Given the description of an element on the screen output the (x, y) to click on. 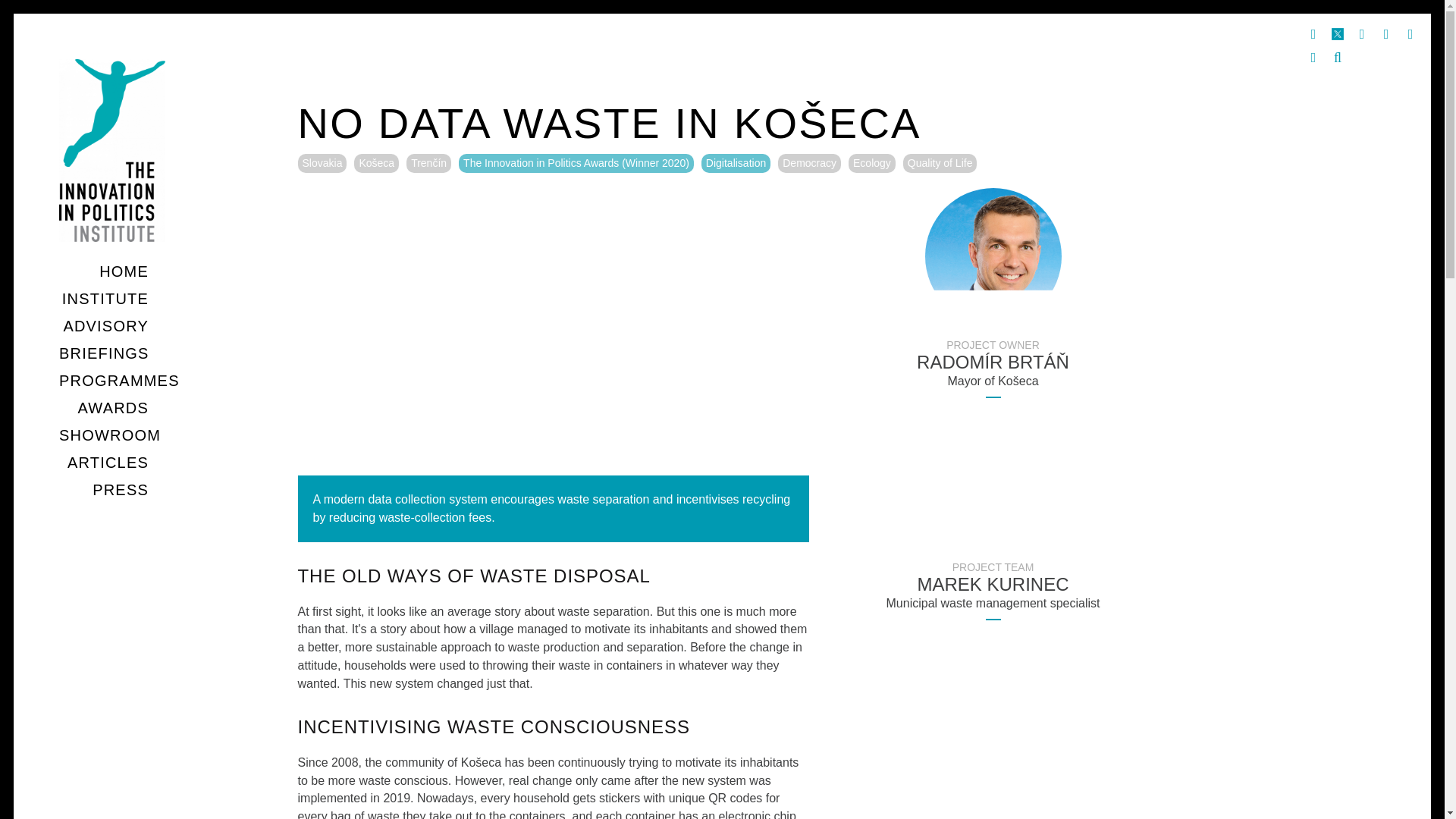
AWARDS (113, 407)
Search (1337, 57)
INSTITUTE (104, 298)
ADVISORY (105, 325)
PROGRAMMES (118, 380)
BRIEFINGS (103, 352)
THE INNOVATION IN POLITICS INSTITUTE (147, 309)
HOME (123, 271)
